Given the description of an element on the screen output the (x, y) to click on. 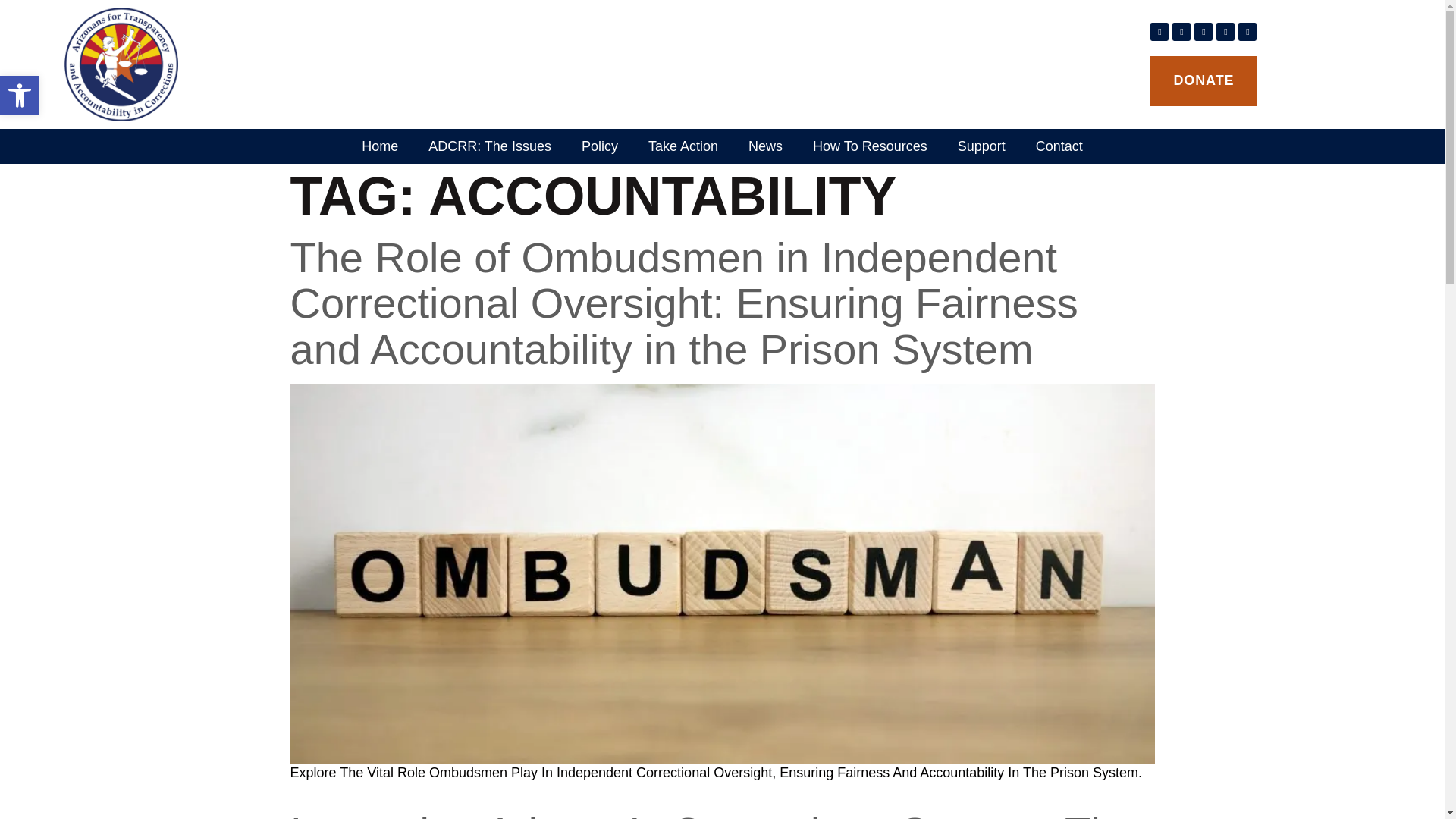
Accessibility Tools (19, 95)
DONATE (1203, 81)
ADCRR: The Issues (489, 145)
Contact (1058, 145)
Support (981, 145)
Take Action (683, 145)
Home (379, 145)
Accessibility Tools (19, 95)
Policy (599, 145)
